Given the description of an element on the screen output the (x, y) to click on. 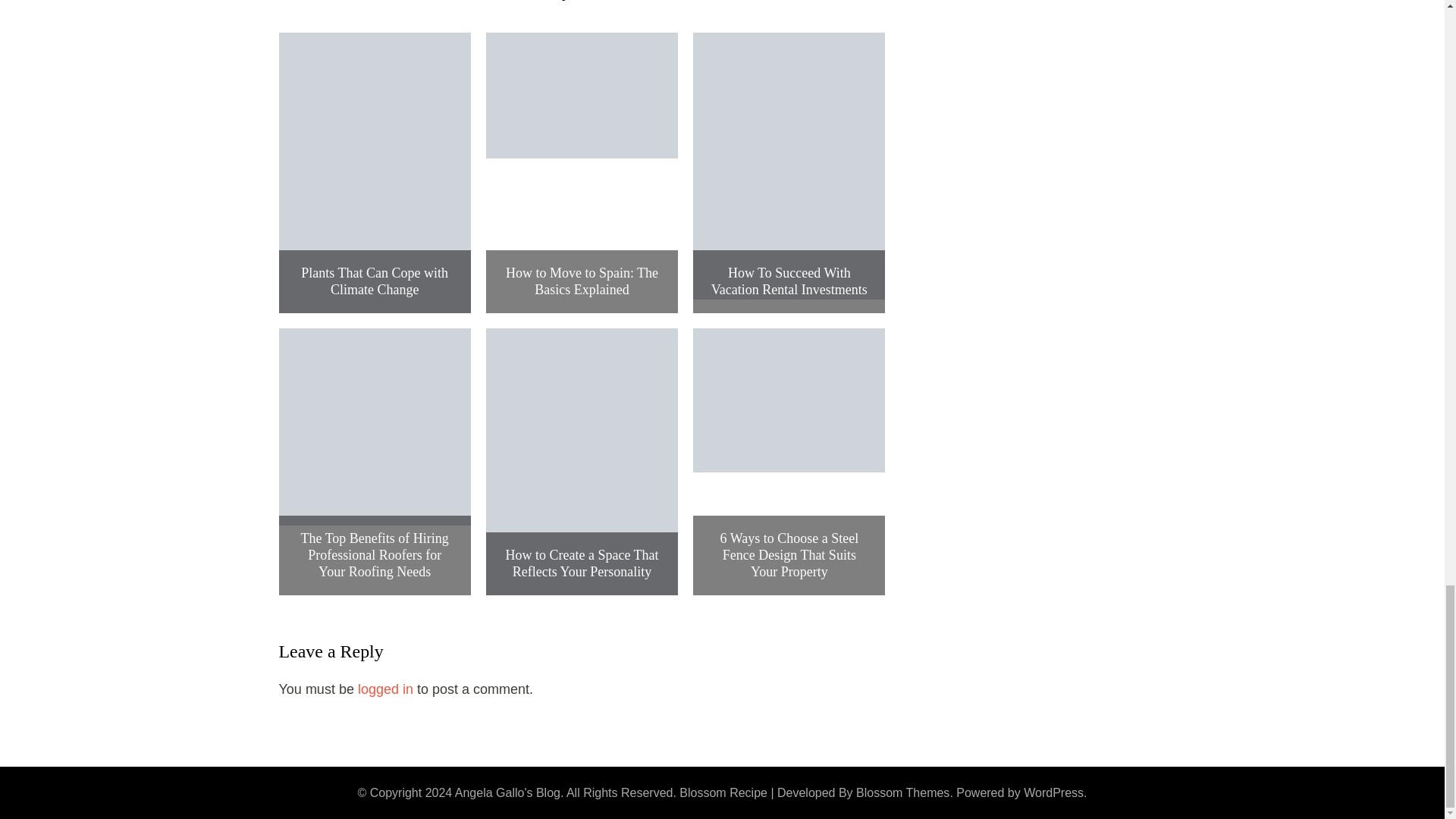
How to Move to Spain: The Basics Explained (581, 281)
How To Succeed With Vacation Rental Investments (788, 281)
Plants That Can Cope with Climate Change (374, 281)
